Given the description of an element on the screen output the (x, y) to click on. 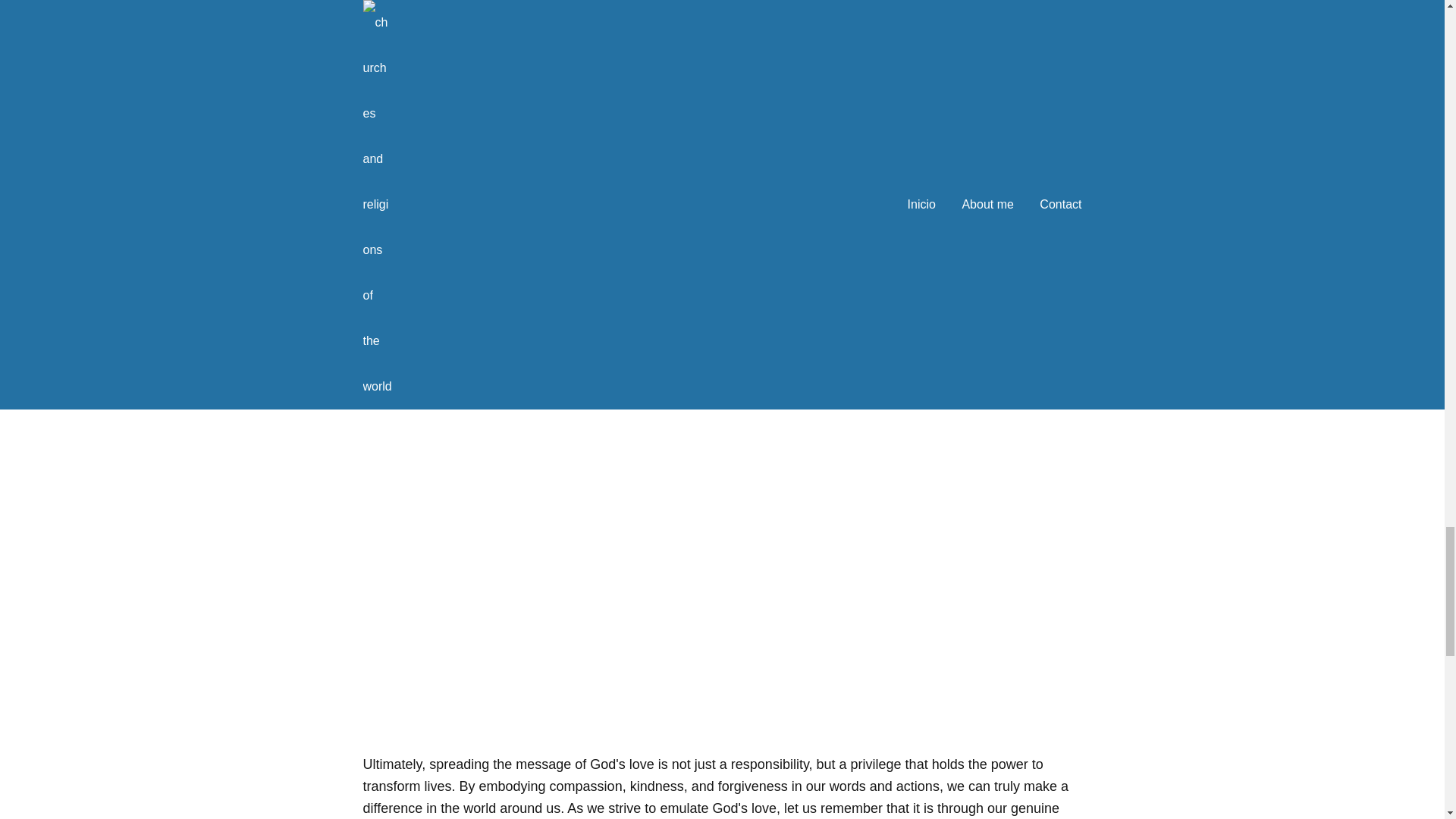
  Encouraging and Strengthening Bible Verses (721, 75)
